Given the description of an element on the screen output the (x, y) to click on. 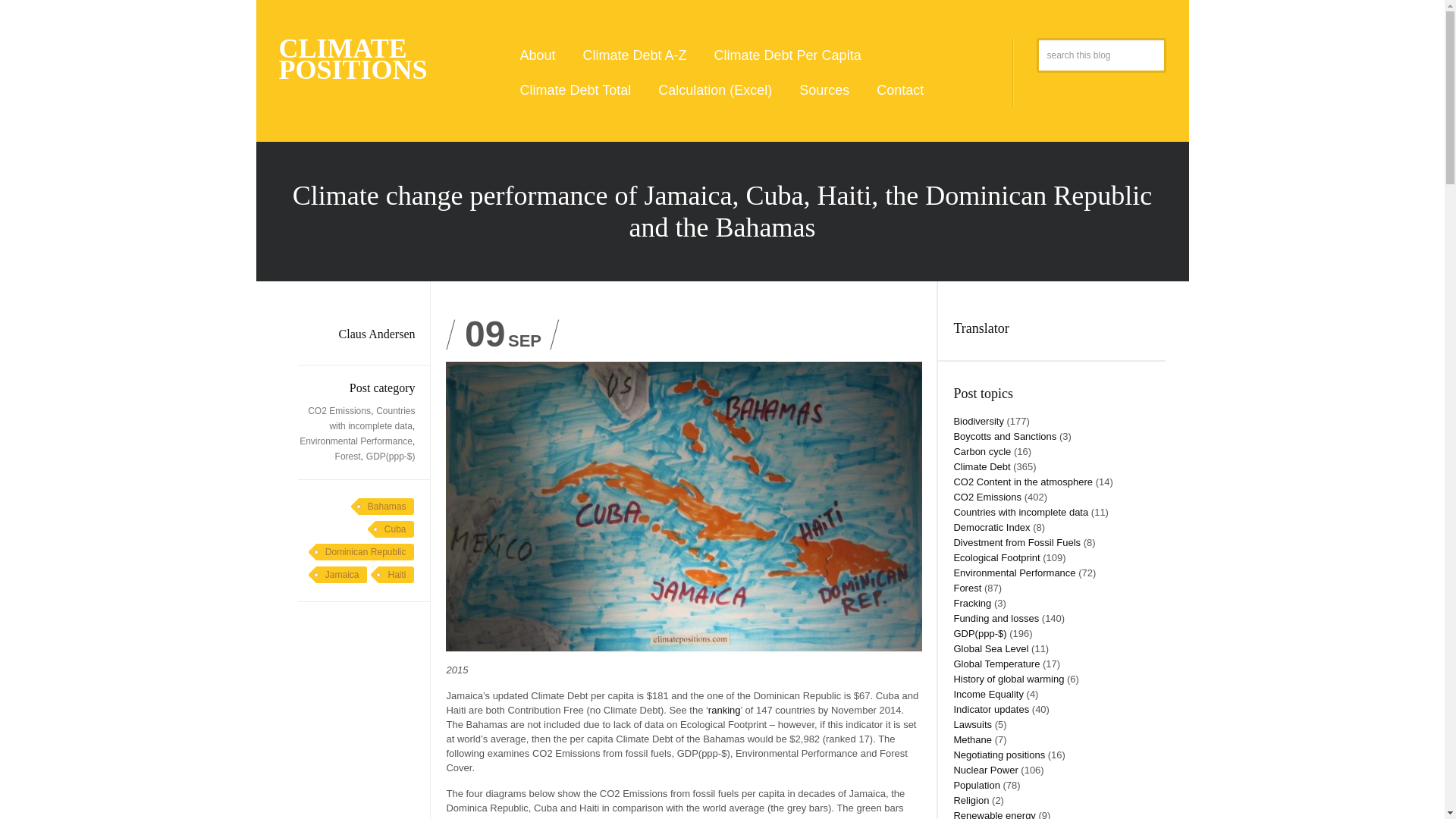
Boycotts and Sanctions (1005, 436)
CLIMATE POSITIONS (353, 59)
CO2 Content in the atmosphere (1023, 481)
Climate Debt Total (575, 89)
Posts by Claus Andersen (376, 333)
Countries with incomplete data (371, 418)
ranking (724, 709)
Jamaica (338, 574)
Biodiversity (978, 420)
Sources (823, 89)
